Given the description of an element on the screen output the (x, y) to click on. 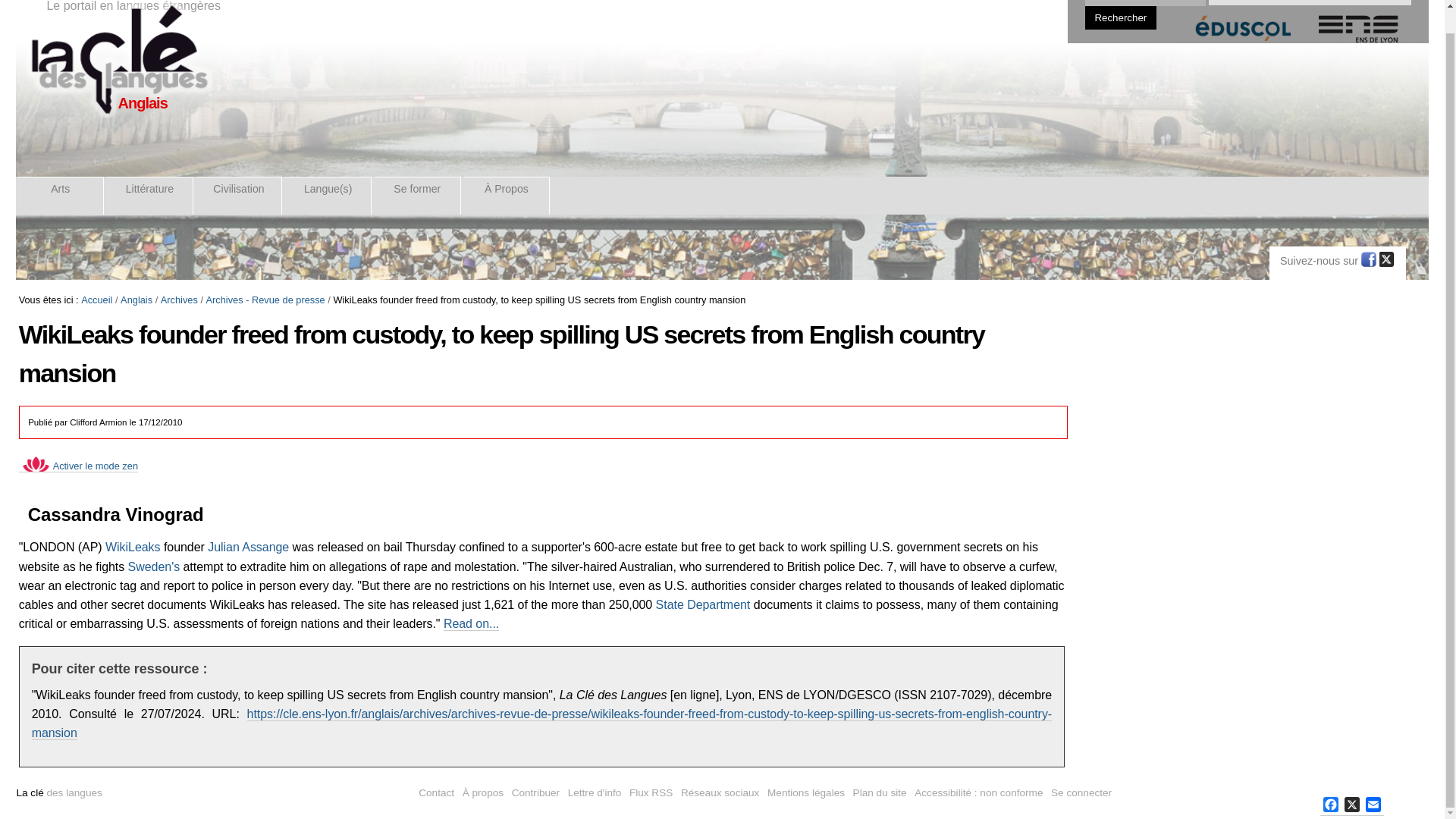
Civilisation (239, 194)
Se former (417, 194)
Rechercher (1120, 17)
Rechercher (1120, 17)
EduScol (1243, 35)
Arts (60, 194)
Recherche (1145, 2)
Rechercher (1120, 17)
Retour au portail (117, 59)
ENS Lyon (1358, 35)
